Given the description of an element on the screen output the (x, y) to click on. 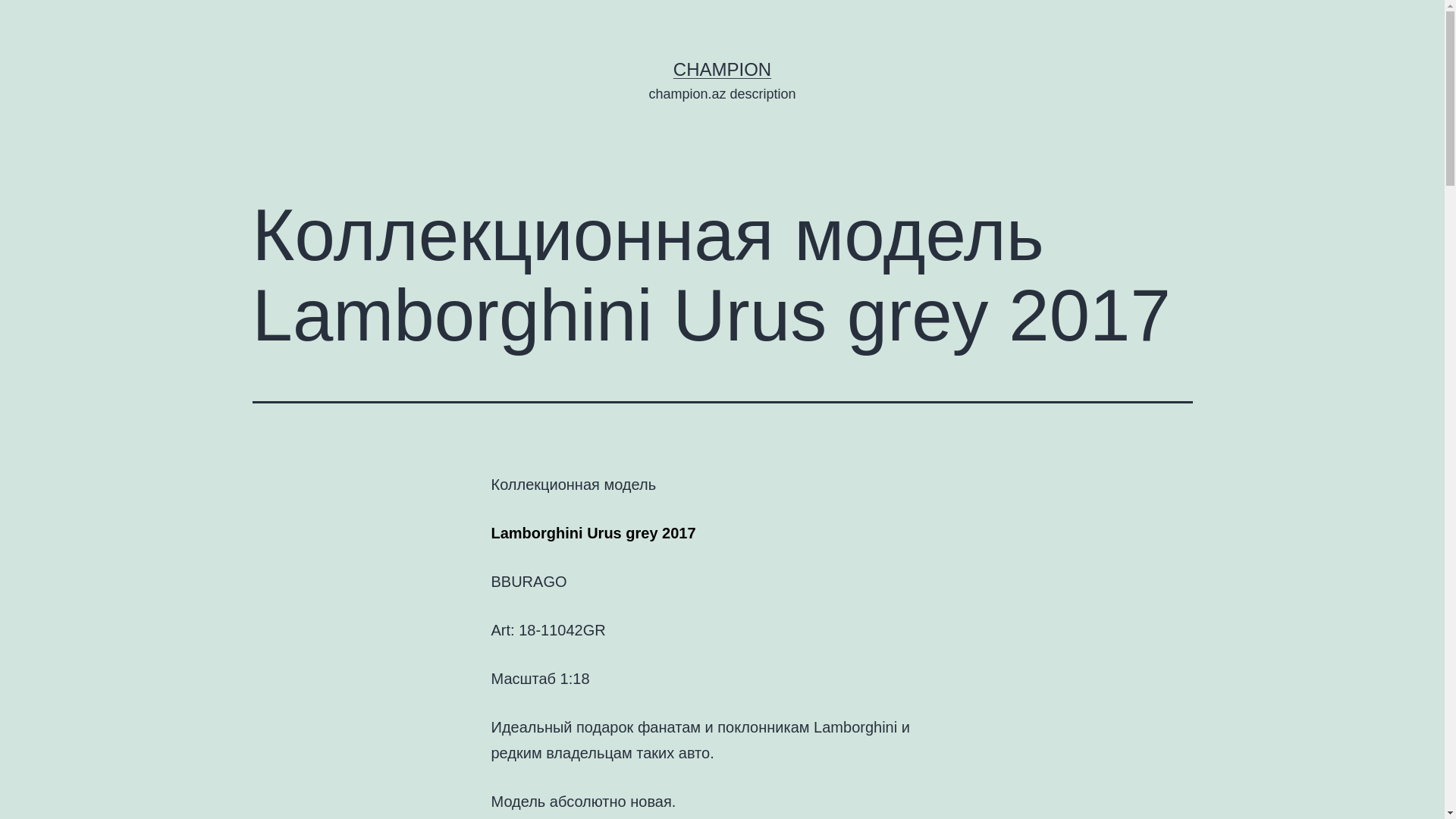
CHAMPION Element type: text (722, 69)
